Given the description of an element on the screen output the (x, y) to click on. 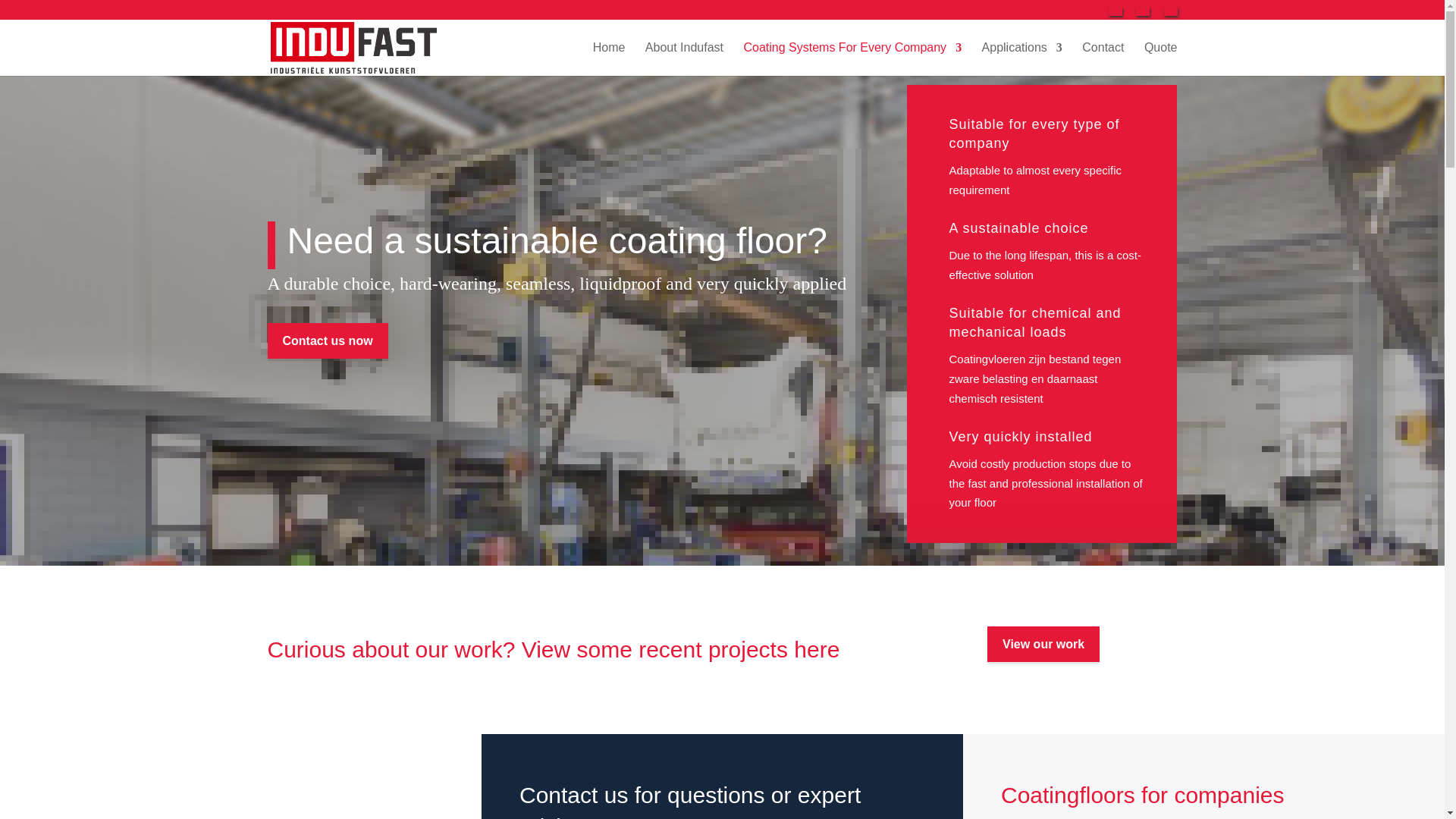
Quote (1160, 59)
Coating Systems For Every Company (851, 59)
Home (609, 59)
Applications (1021, 59)
Contact (1102, 59)
About Indufast (684, 59)
